Given the description of an element on the screen output the (x, y) to click on. 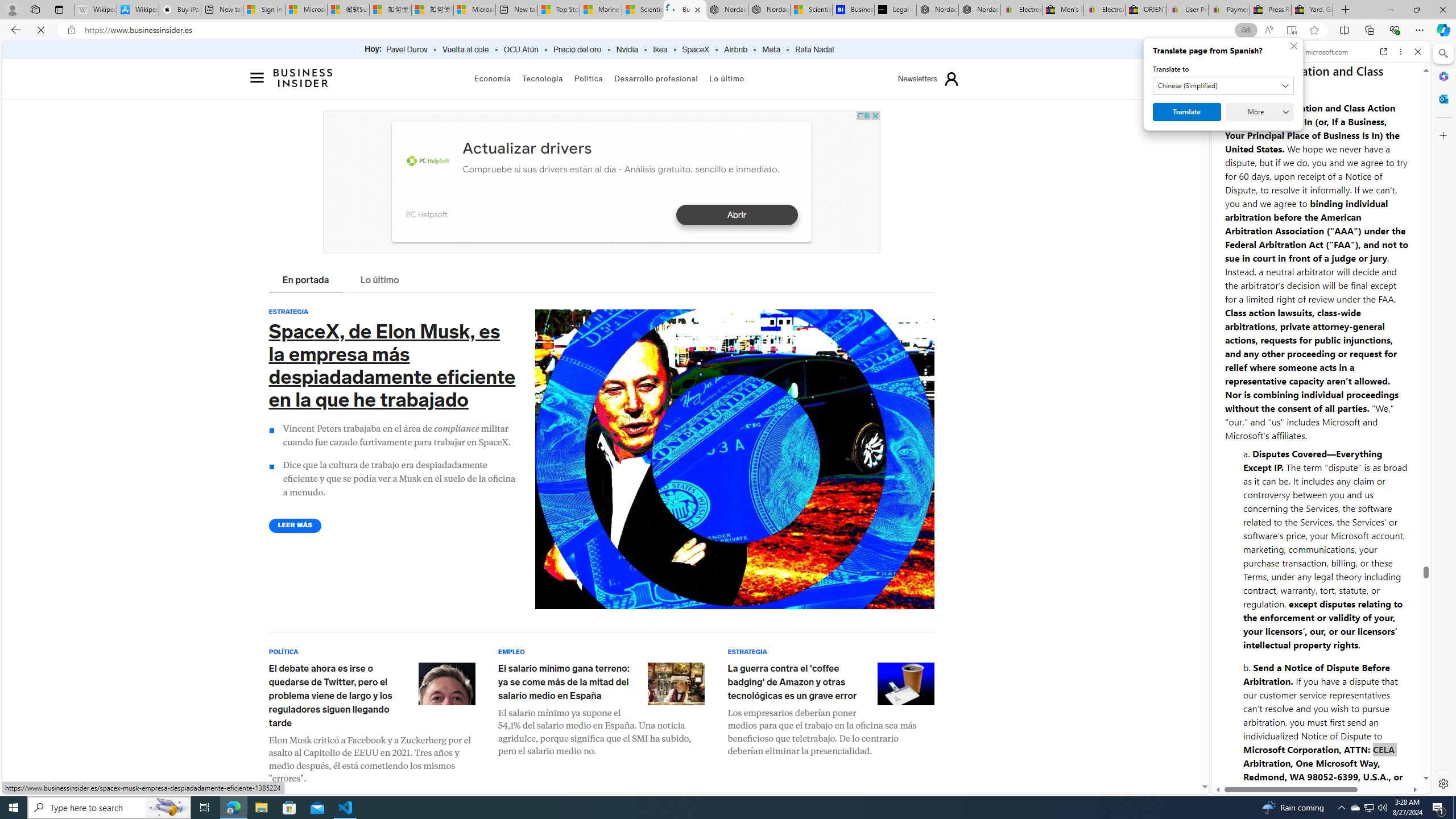
Show translate options (1245, 29)
Logo BusinessInsider.es (303, 76)
Rafa Nadal (814, 49)
Pavel Durov (406, 49)
Meta (770, 49)
PC Helpsoft (425, 214)
